Given the description of an element on the screen output the (x, y) to click on. 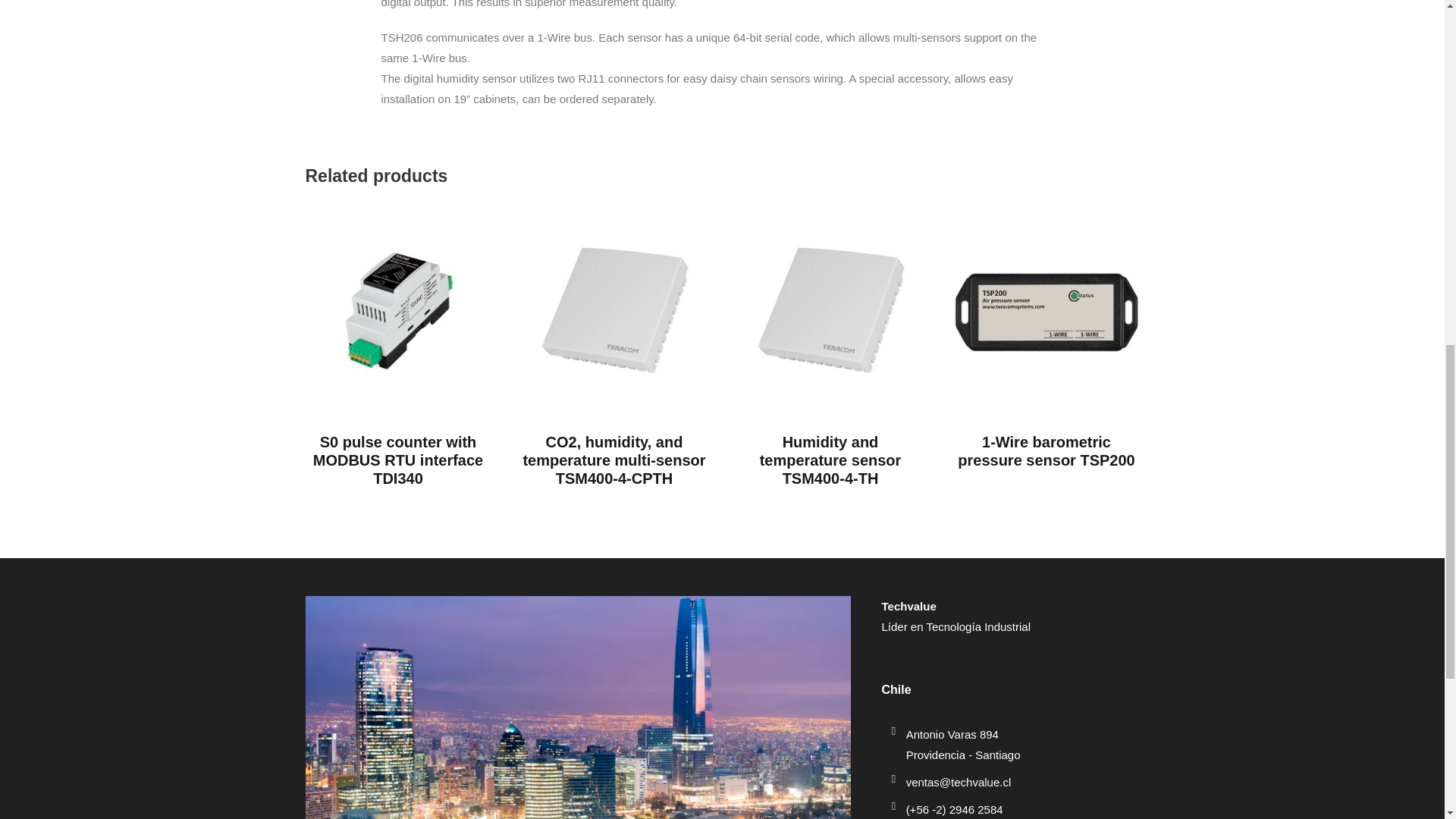
s0-pulse-counter-tdi340-gal-1 (397, 311)
1-wire-barometric-pressure-sensor-tsp200-gal-2 (1046, 311)
1-wire-temperature-and-humidity-sensor-tsm400-1-th-gal-1-w (829, 311)
1-wire-temperature-and-humidity-sensor-tsm400-1-th-gal-1-w (614, 311)
